Given the description of an element on the screen output the (x, y) to click on. 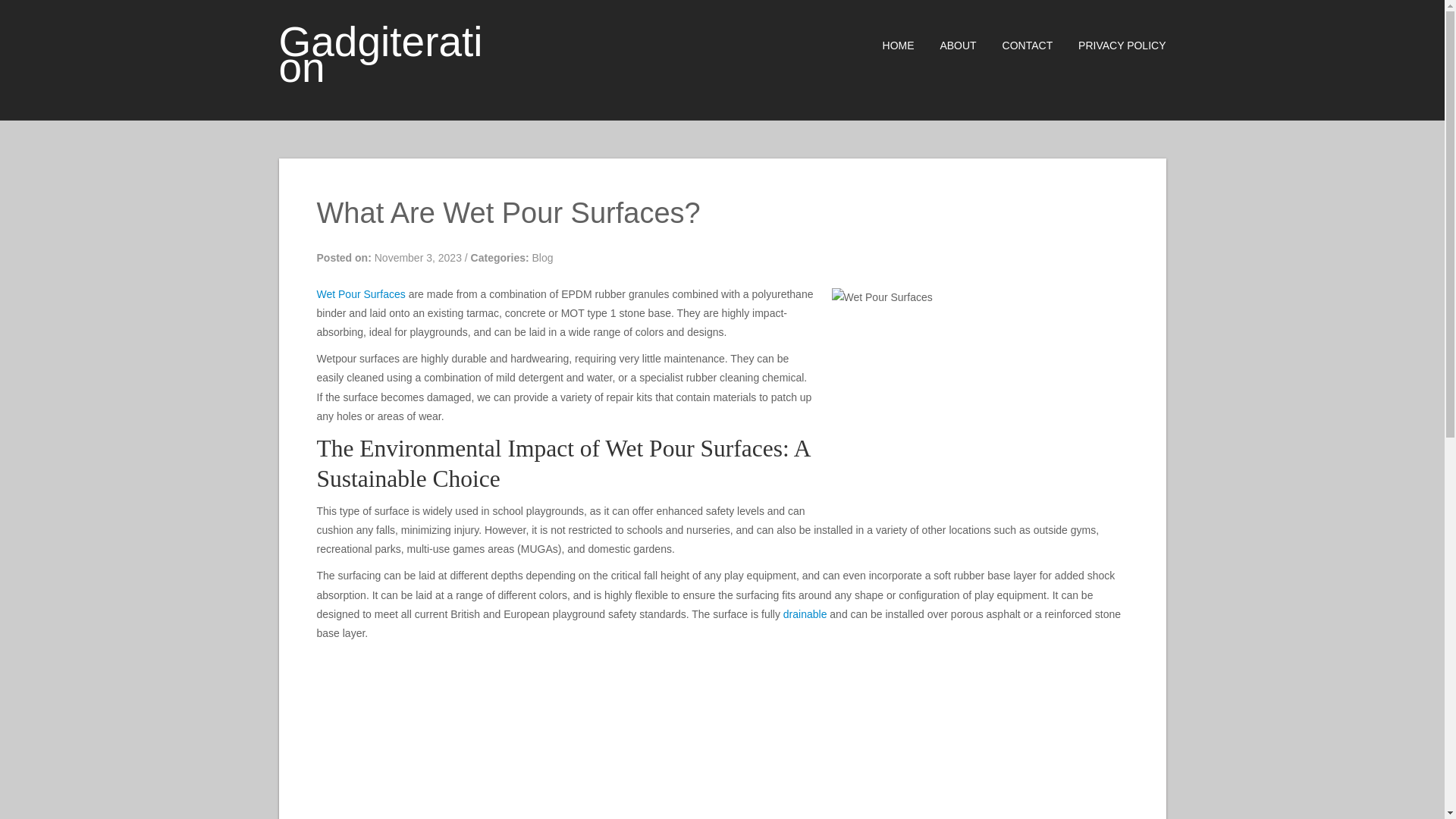
Blog (542, 257)
Gadgiteration (381, 54)
PRIVACY POLICY (1110, 45)
Gadgiteration (381, 54)
Wet Pour Surfaces (361, 294)
drainable (805, 613)
